Given the description of an element on the screen output the (x, y) to click on. 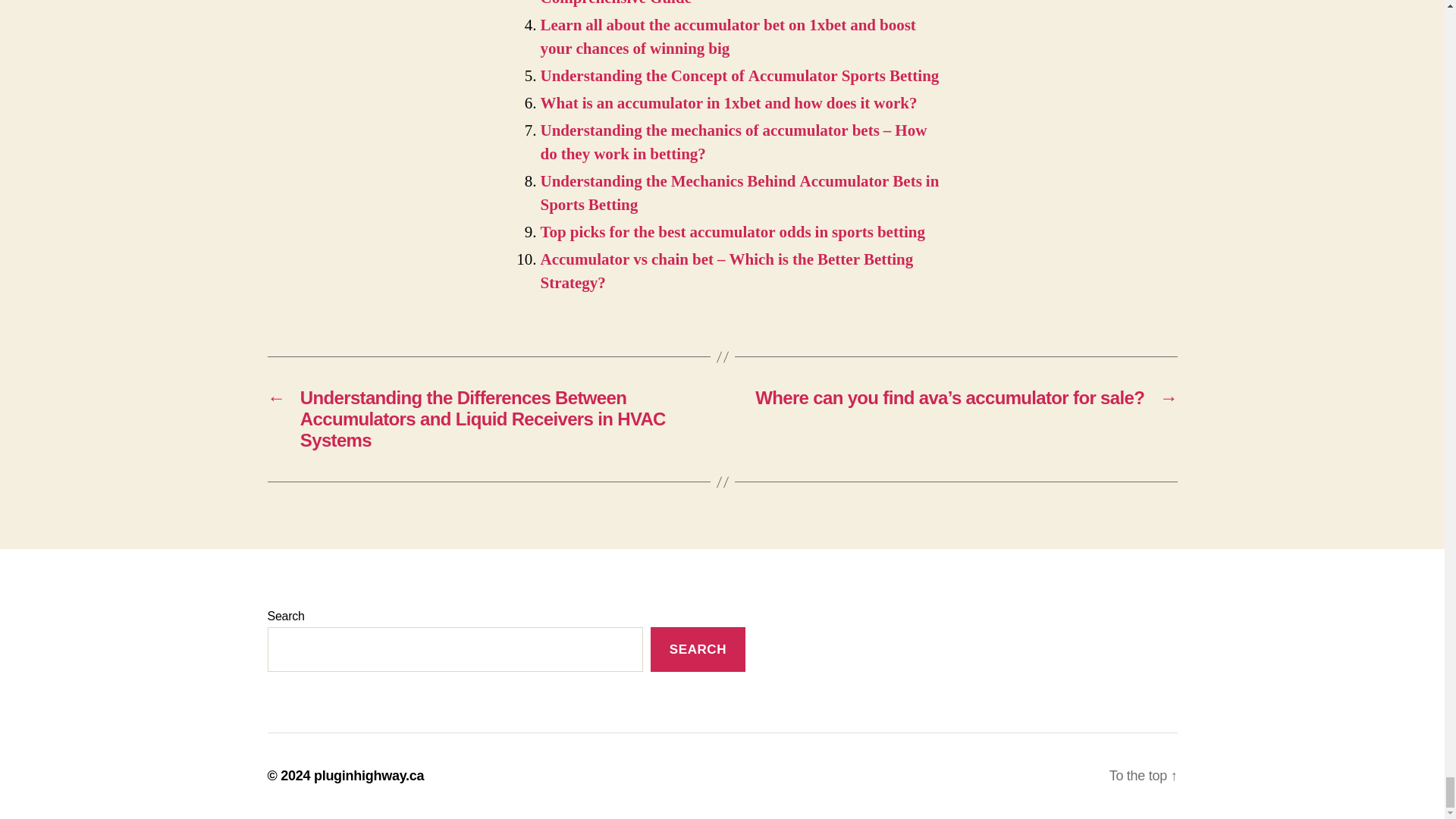
Understanding the Concept of Accumulator Sports Betting (739, 76)
What is an accumulator in 1xbet and how does it work? (728, 103)
Understanding the Concept of Accumulator Sports Betting (739, 76)
Top picks for the best accumulator odds in sports betting (732, 231)
SEARCH (697, 649)
What is an accumulator in 1xbet and how does it work? (728, 103)
Top picks for the best accumulator odds in sports betting (732, 231)
pluginhighway.ca (368, 775)
